Given the description of an element on the screen output the (x, y) to click on. 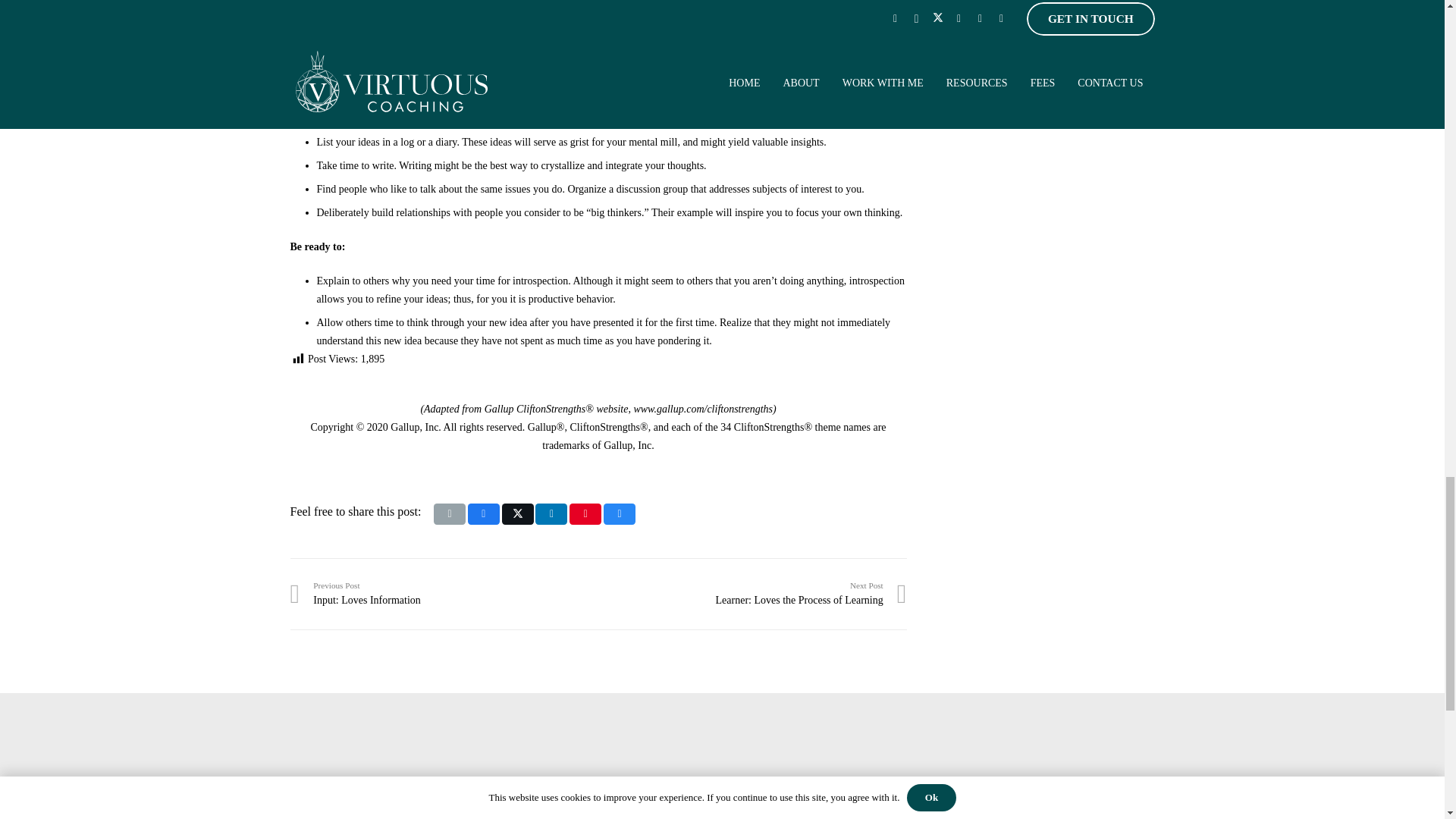
Share this (551, 513)
Pin this (443, 593)
Share this (585, 513)
Email this (619, 513)
Tweet this (449, 513)
Share this (518, 513)
Input: Loves Information (483, 513)
